Given the description of an element on the screen output the (x, y) to click on. 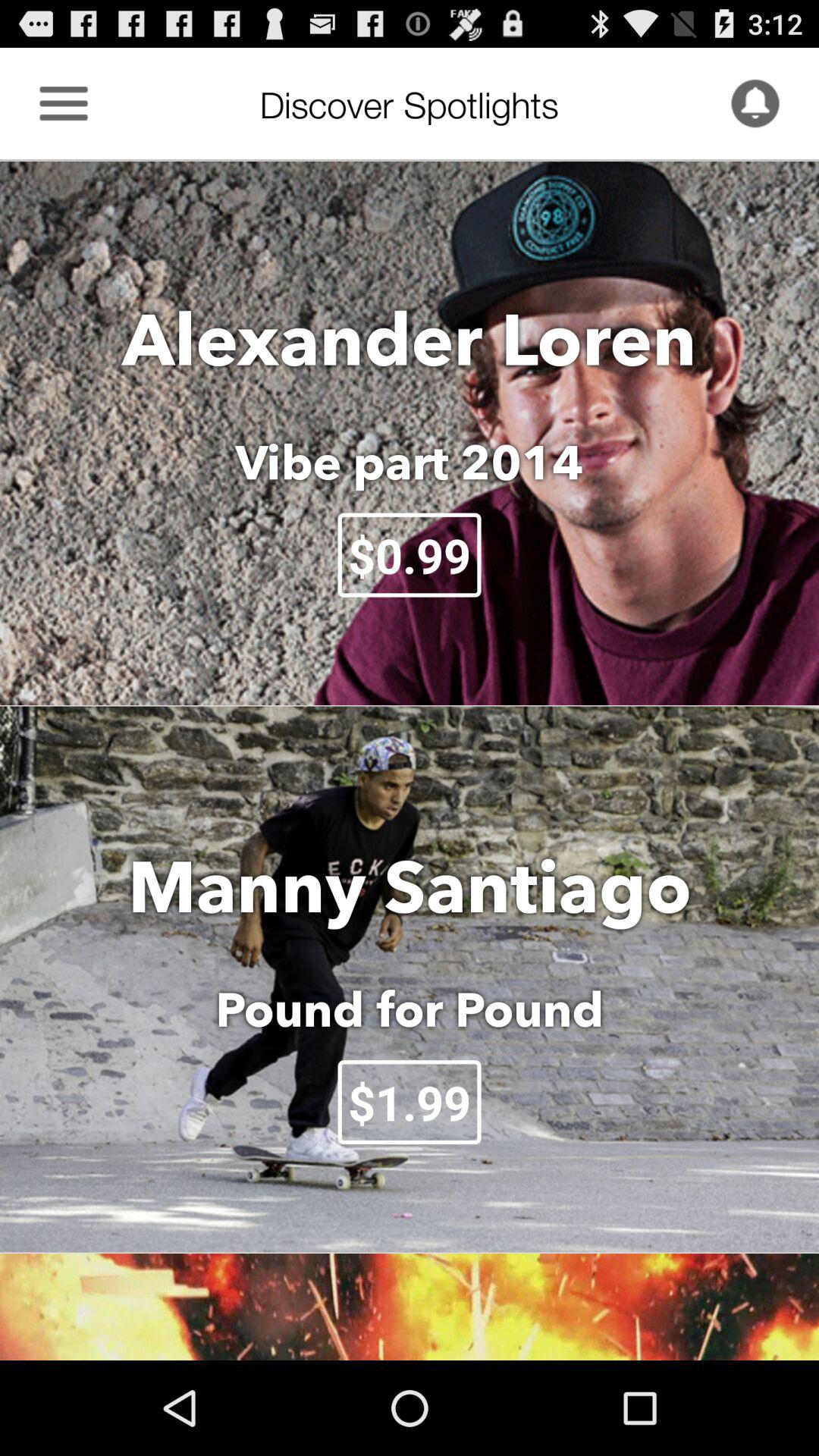
swipe until vibe part 2014 app (409, 461)
